Given the description of an element on the screen output the (x, y) to click on. 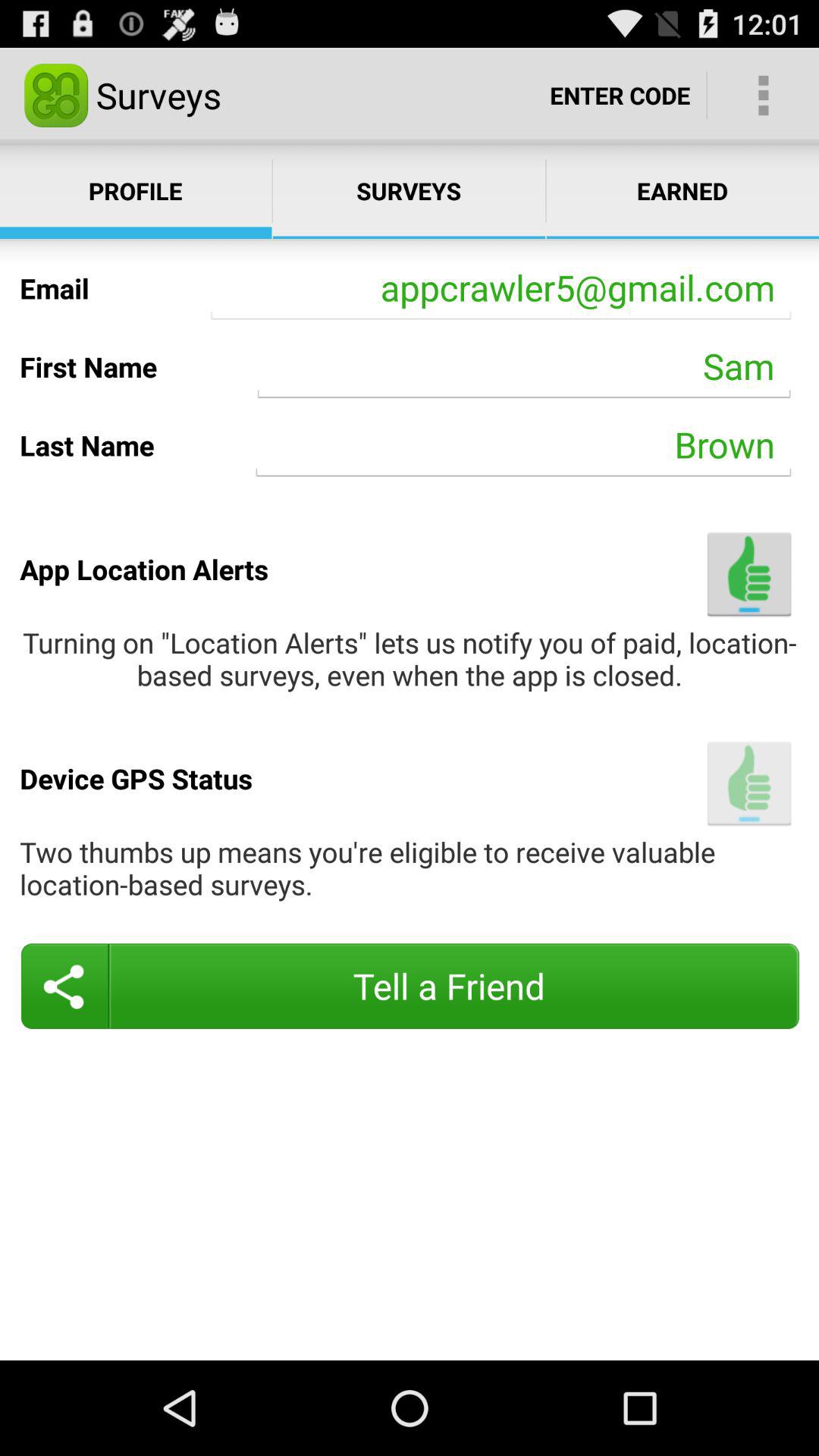
turn off the item to the right of the email icon (501, 288)
